Given the description of an element on the screen output the (x, y) to click on. 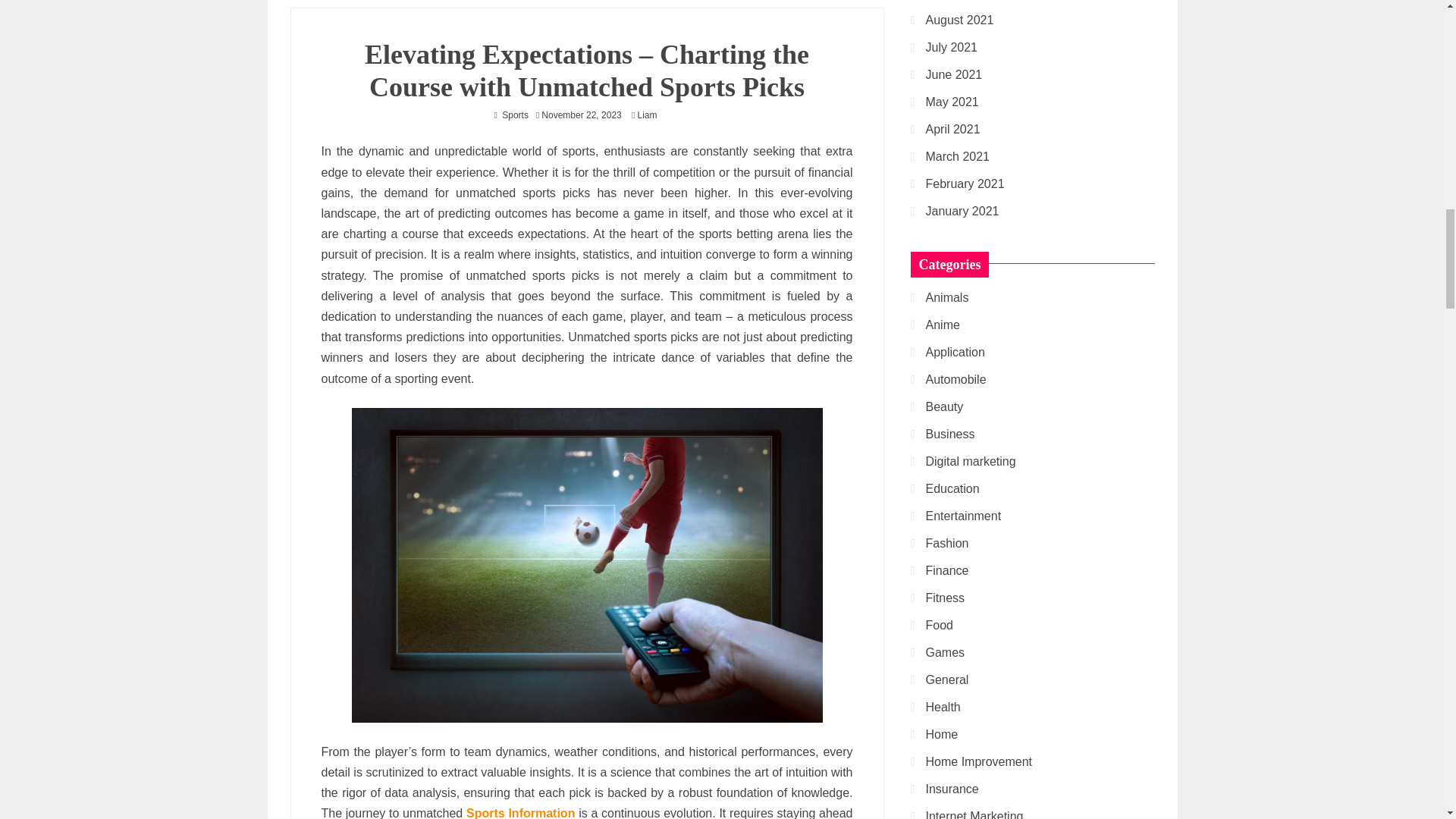
Sports Information (520, 812)
Liam (650, 114)
November 22, 2023 (581, 114)
Sports (515, 114)
